Given the description of an element on the screen output the (x, y) to click on. 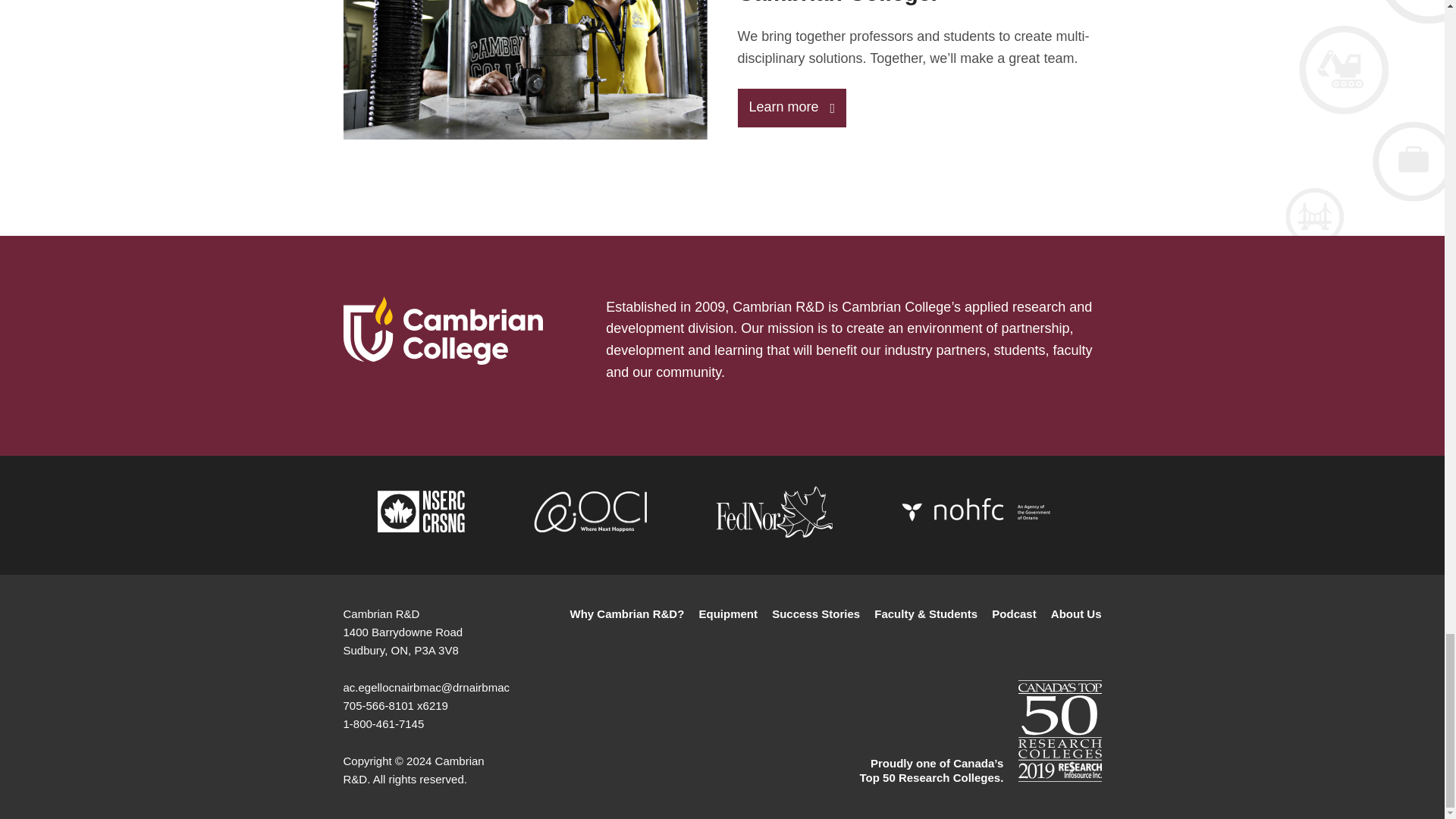
Learn more (790, 107)
Podcast (1013, 614)
About Us (1076, 614)
Equipment (728, 614)
Success Stories (815, 614)
